Given the description of an element on the screen output the (x, y) to click on. 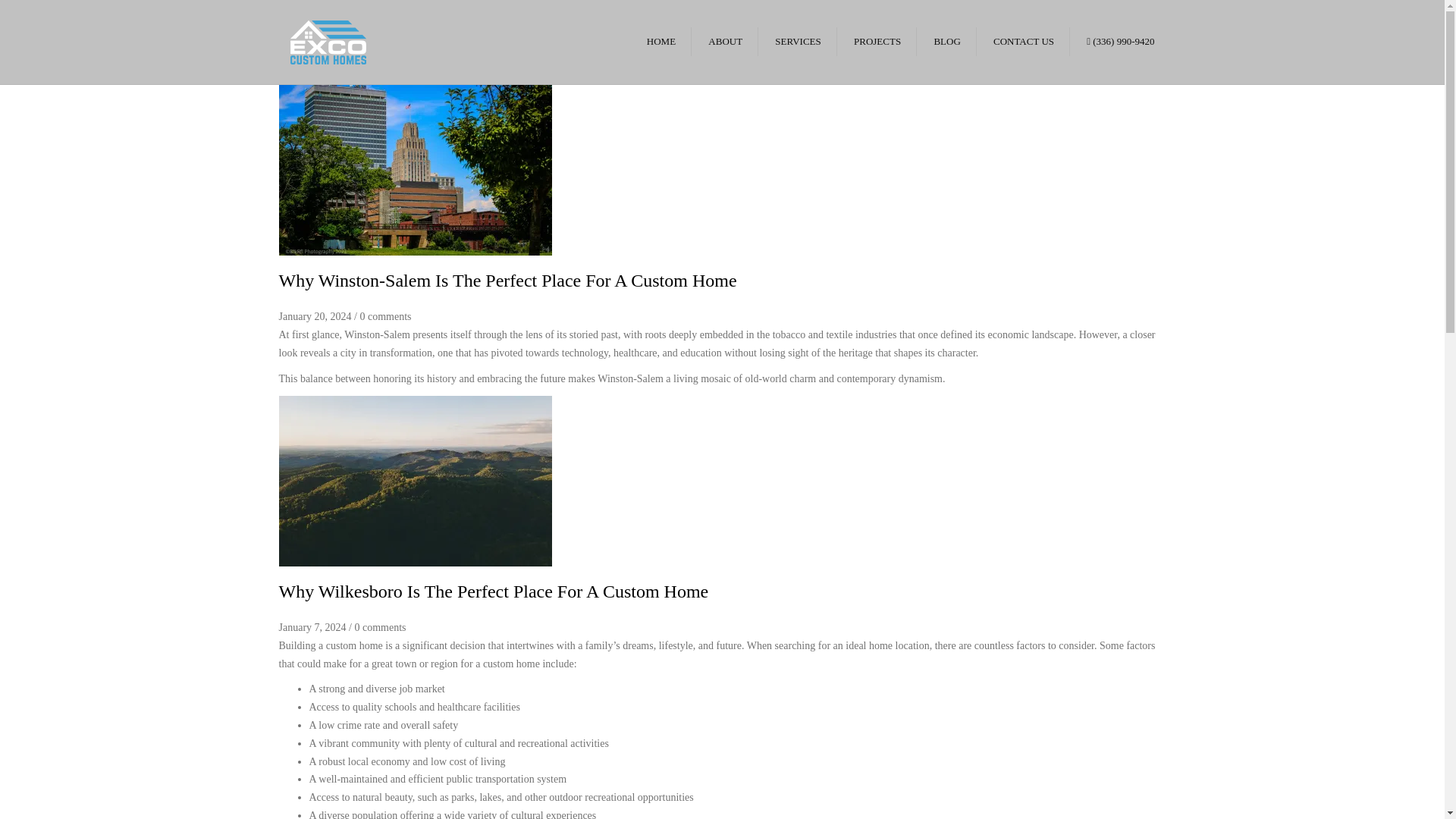
PROJECTS (876, 41)
CONTACT US (1023, 41)
BLOG (947, 41)
ABOUT (724, 41)
HOME (660, 41)
SERVICES (797, 41)
